Given the description of an element on the screen output the (x, y) to click on. 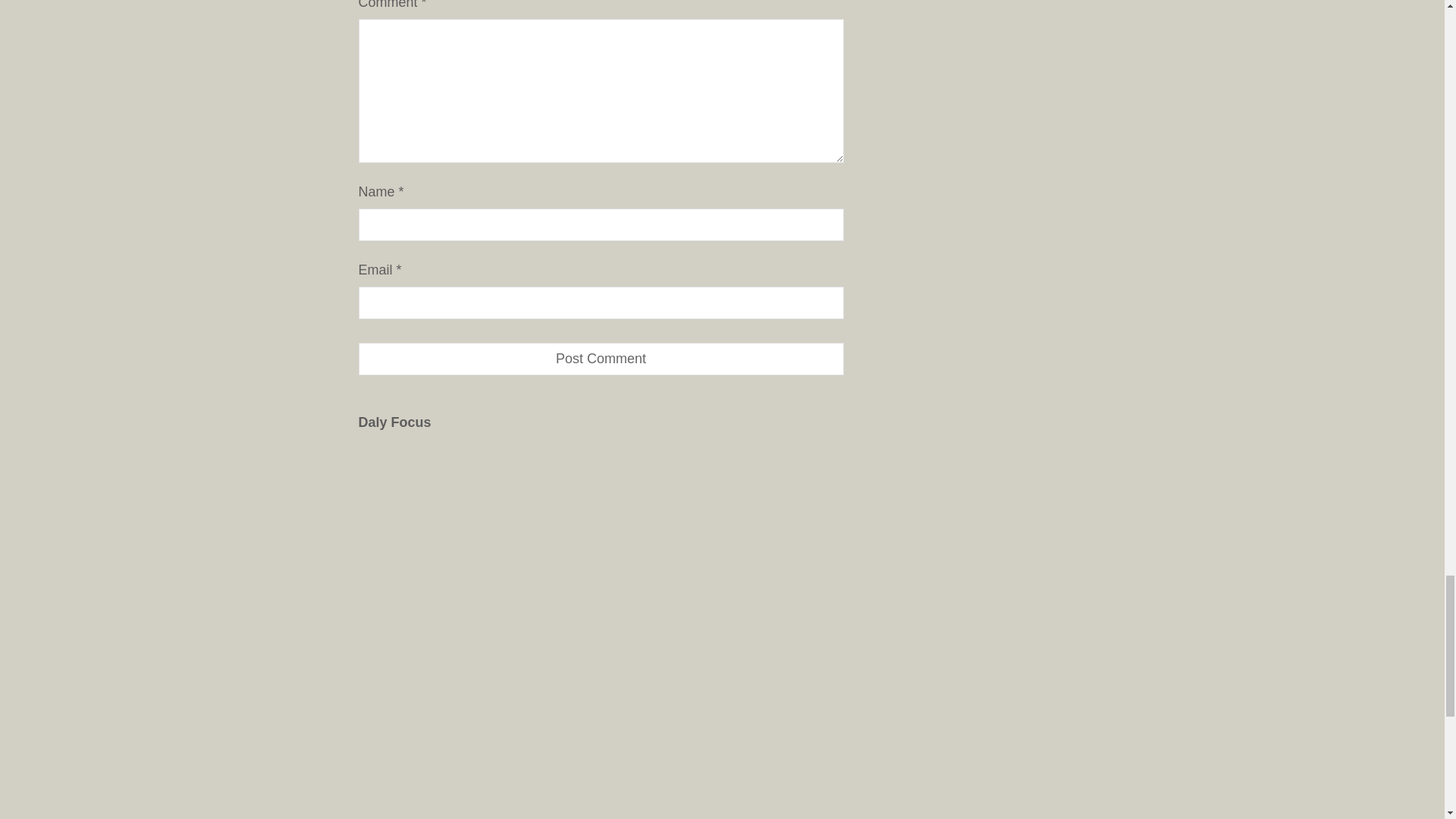
Post Comment (600, 359)
Post Comment (600, 359)
